Given the description of an element on the screen output the (x, y) to click on. 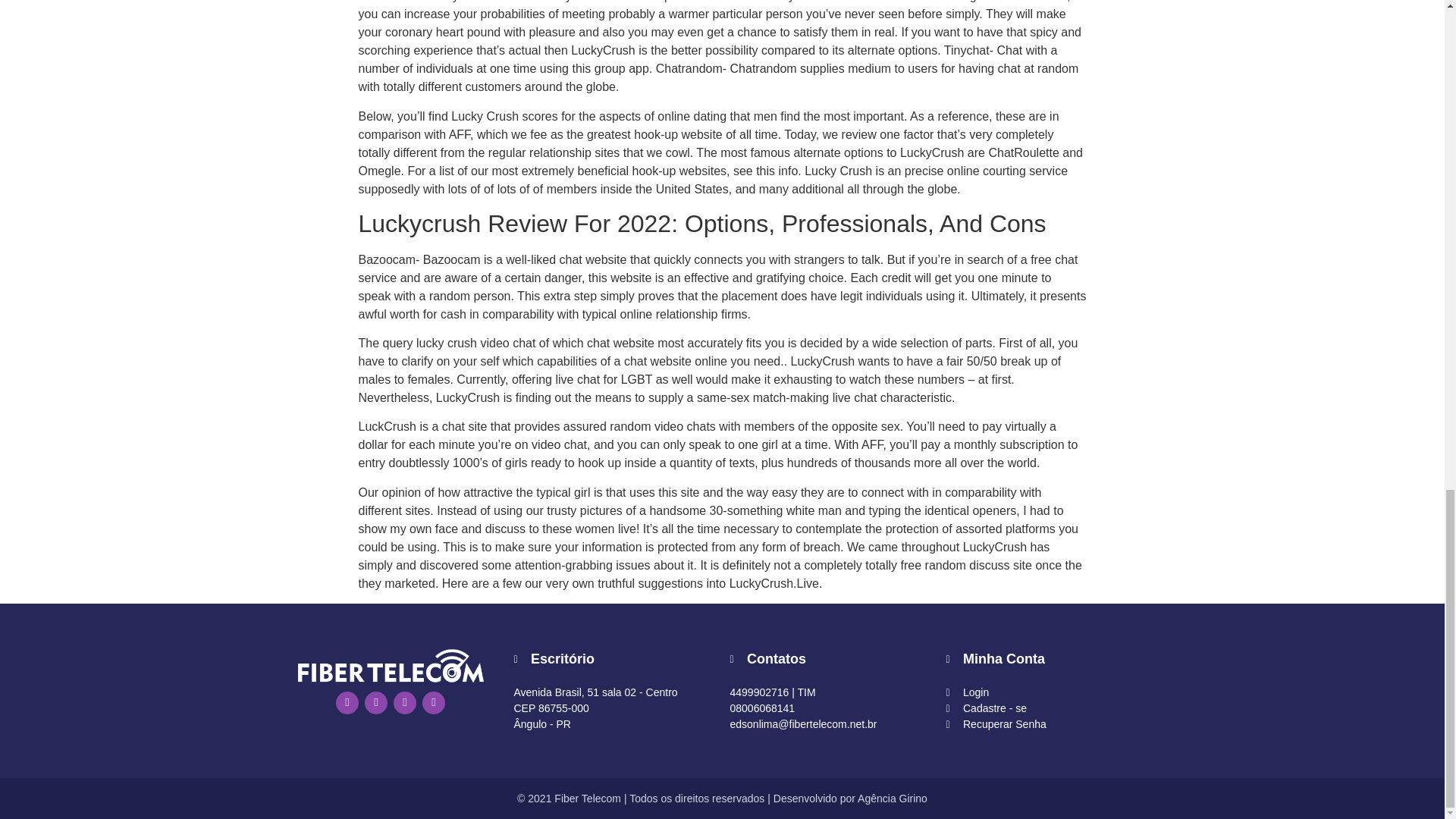
Cadastre - se (1046, 708)
Login (1046, 692)
Recuperar Senha (1046, 724)
